Given the description of an element on the screen output the (x, y) to click on. 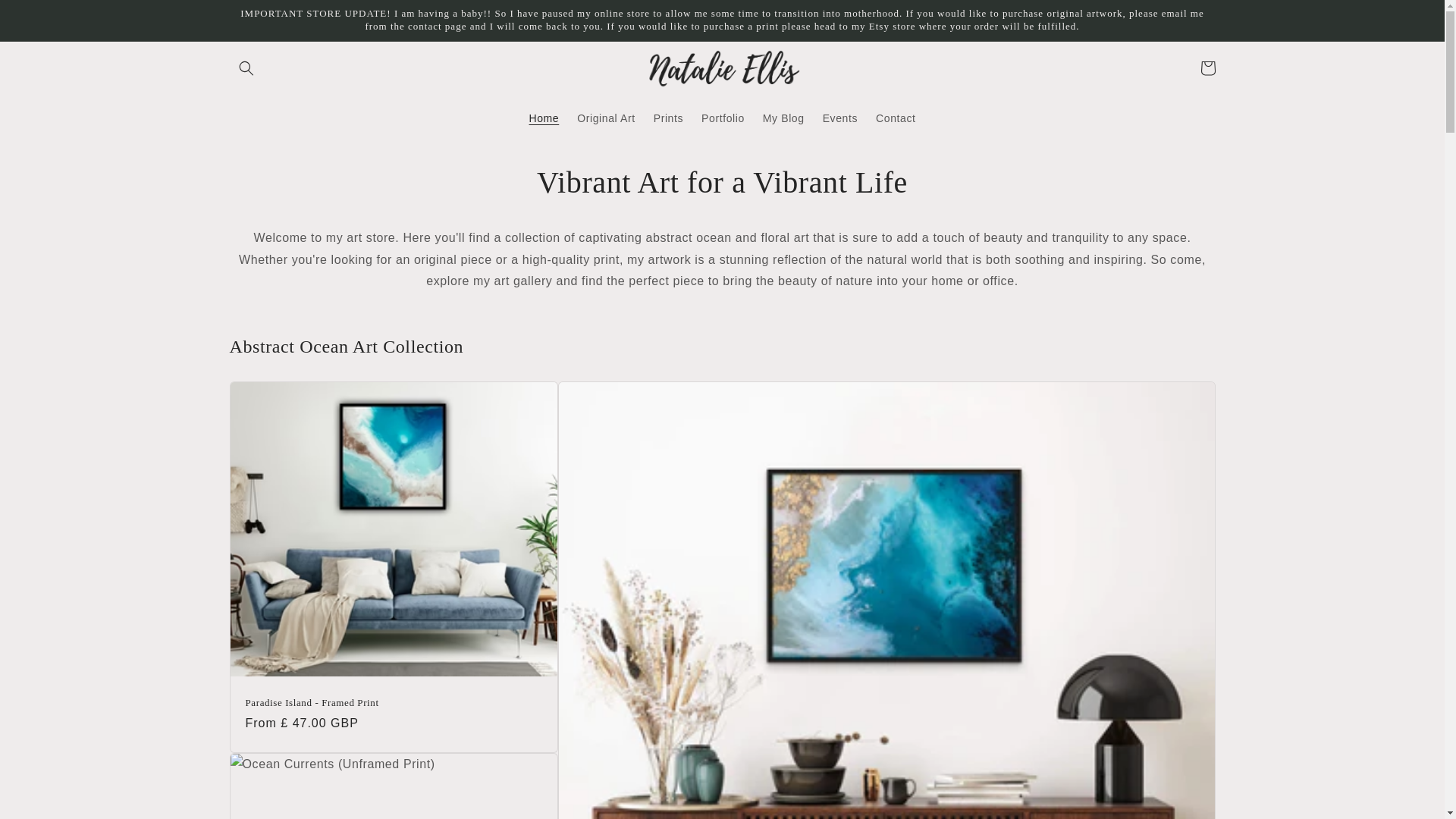
Home (544, 118)
Skip to content (45, 17)
Contact (895, 118)
Portfolio (723, 118)
Paradise Island - Framed Print (393, 703)
Cart (1207, 68)
Original Art (605, 118)
Events (839, 118)
My Blog (783, 118)
Prints (669, 118)
